Given the description of an element on the screen output the (x, y) to click on. 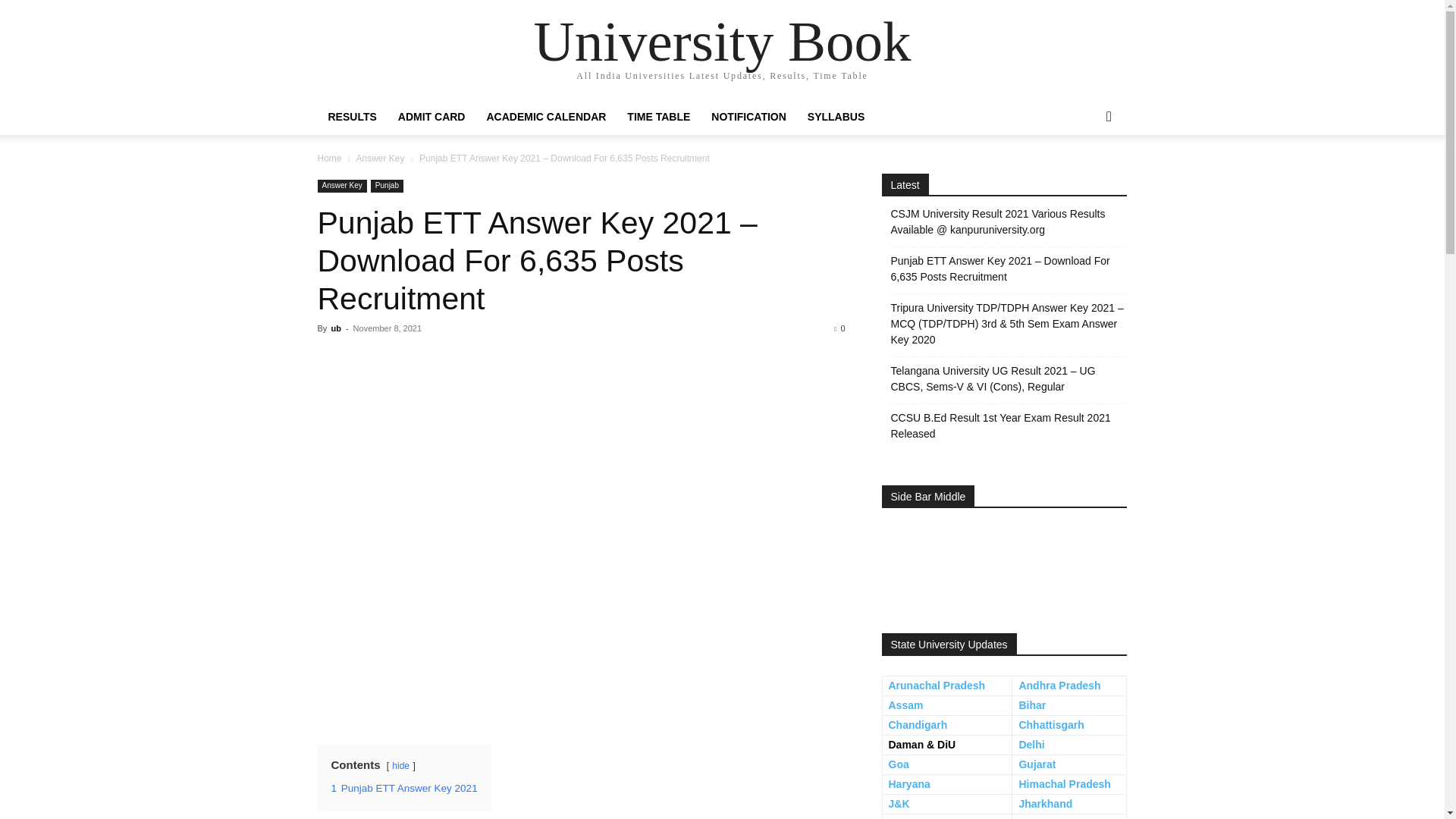
RESULTS (352, 116)
NOTIFICATION (748, 116)
hide (400, 765)
Answer Key (379, 158)
View all posts in Answer Key (379, 158)
ADMIT CARD (431, 116)
Search (1085, 177)
ub (335, 327)
Punjab (387, 185)
TIME TABLE (657, 116)
